Given the description of an element on the screen output the (x, y) to click on. 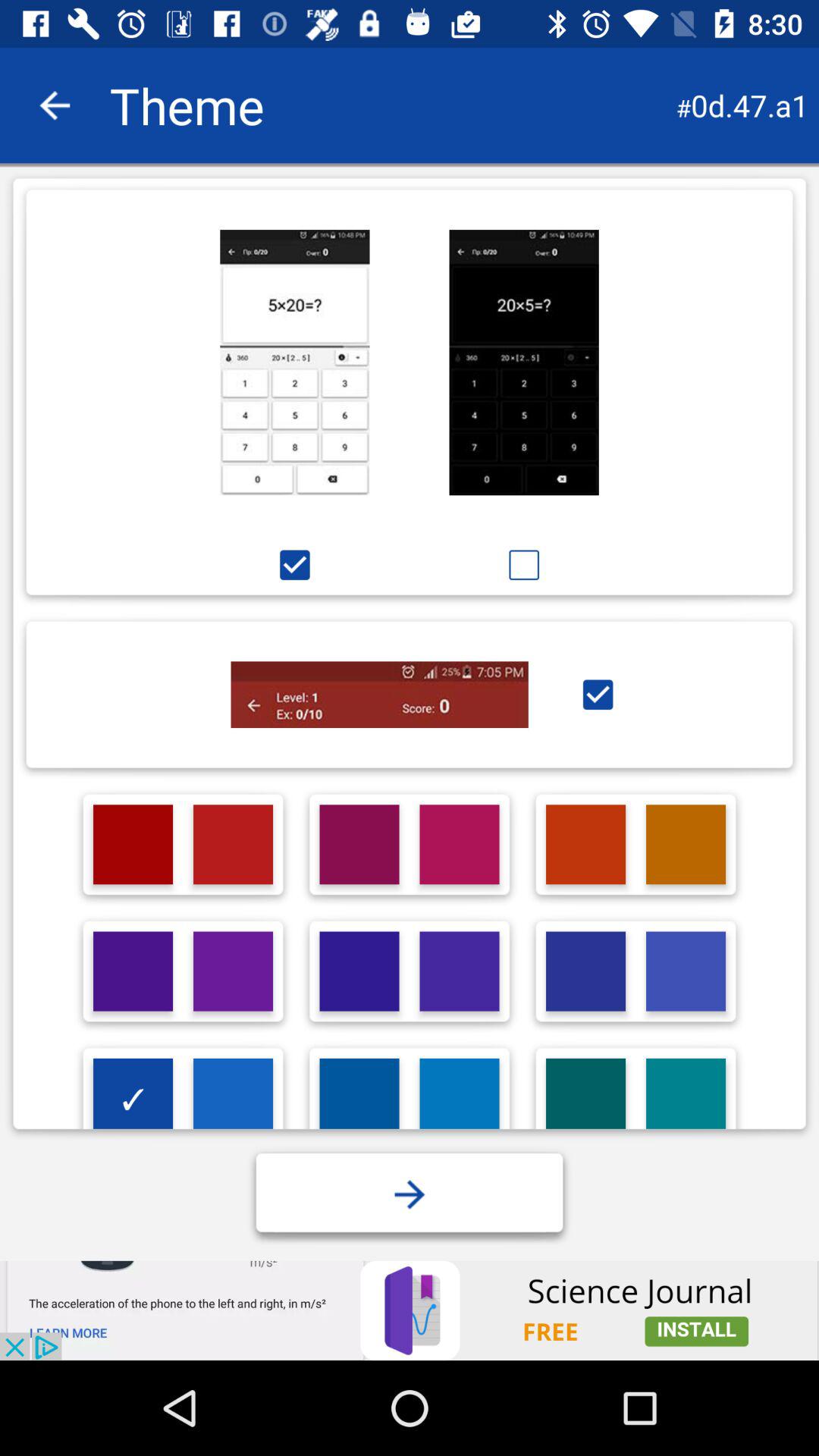
lite blue color option (459, 1098)
